Given the description of an element on the screen output the (x, y) to click on. 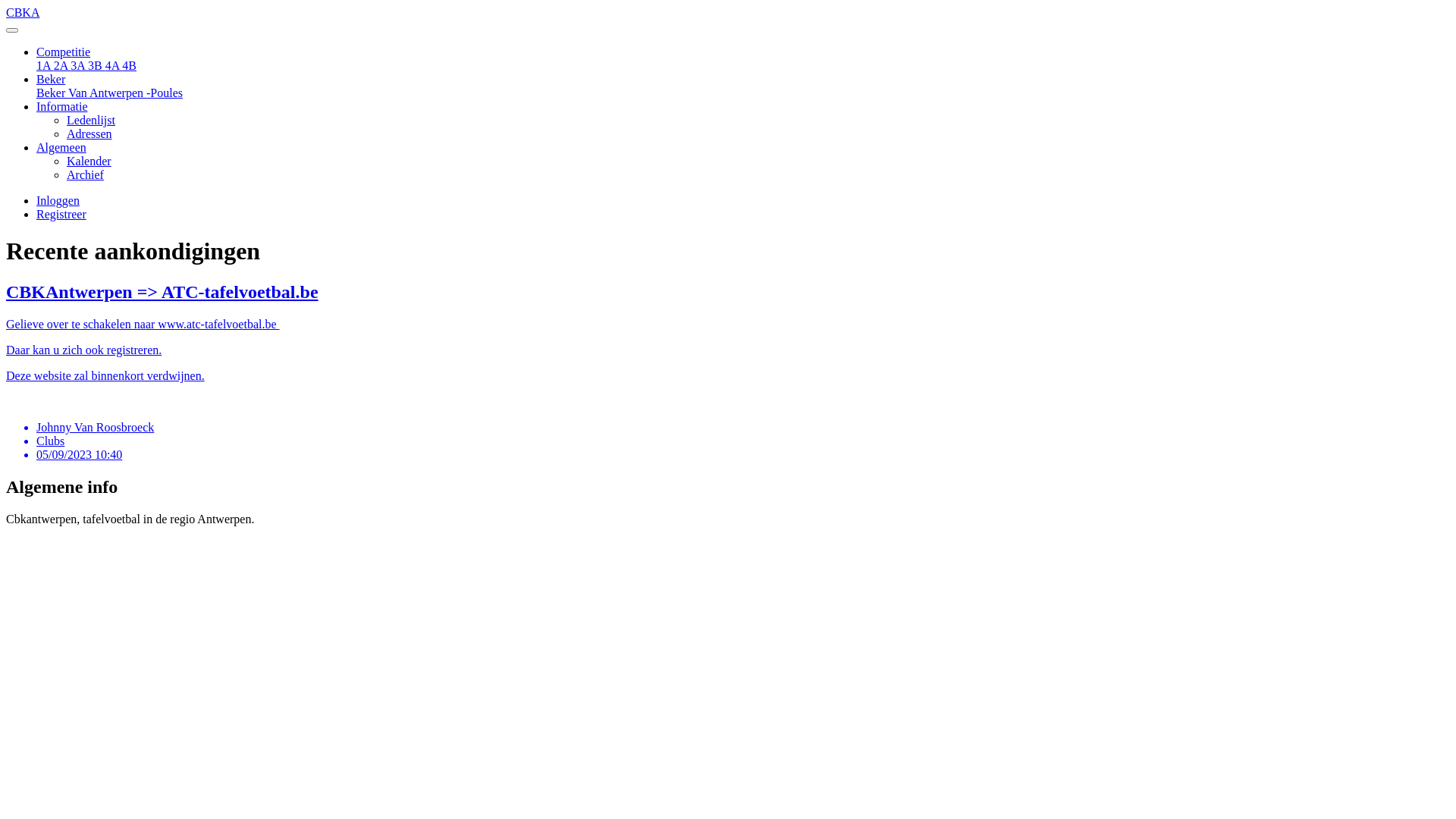
Kalender Element type: text (88, 160)
3A Element type: text (78, 65)
Informatie Element type: text (61, 106)
3B Element type: text (96, 65)
Beker Van Antwerpen -Poules Element type: text (109, 92)
Ledenlijst Element type: text (90, 119)
4B Element type: text (129, 65)
Beker Element type: text (50, 78)
Competitie Element type: text (63, 51)
4A Element type: text (113, 65)
Archief Element type: text (84, 174)
CBKA Element type: text (727, 19)
Registreer Element type: text (61, 213)
Inloggen Element type: text (57, 200)
2A Element type: text (62, 65)
1A Element type: text (44, 65)
Algemeen Element type: text (61, 147)
Adressen Element type: text (89, 133)
